Given the description of an element on the screen output the (x, y) to click on. 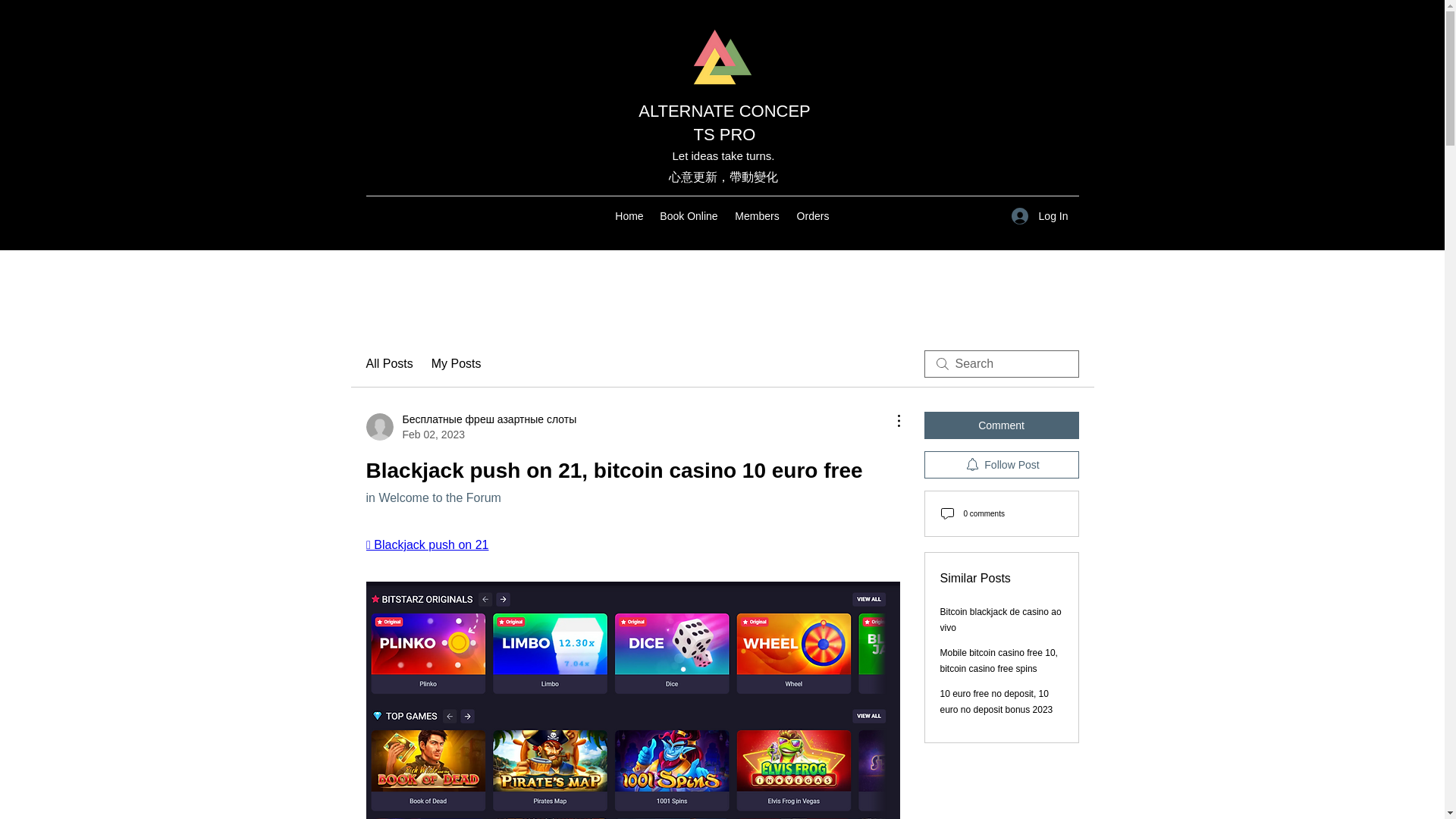
in Welcome to the Forum (432, 497)
Members (757, 215)
Orders (813, 215)
My Posts (455, 363)
ALTERNATE CONCEPTS PRO (724, 122)
Book Online (689, 215)
Home (628, 215)
Follow Post (1000, 464)
10 euro free no deposit, 10 euro no deposit bonus 2023 (996, 701)
All Posts (388, 363)
Comment (1000, 424)
Mobile bitcoin casino free 10, bitcoin casino free spins (999, 660)
Bitcoin blackjack de casino ao vivo (1000, 619)
Log In (1039, 215)
